Given the description of an element on the screen output the (x, y) to click on. 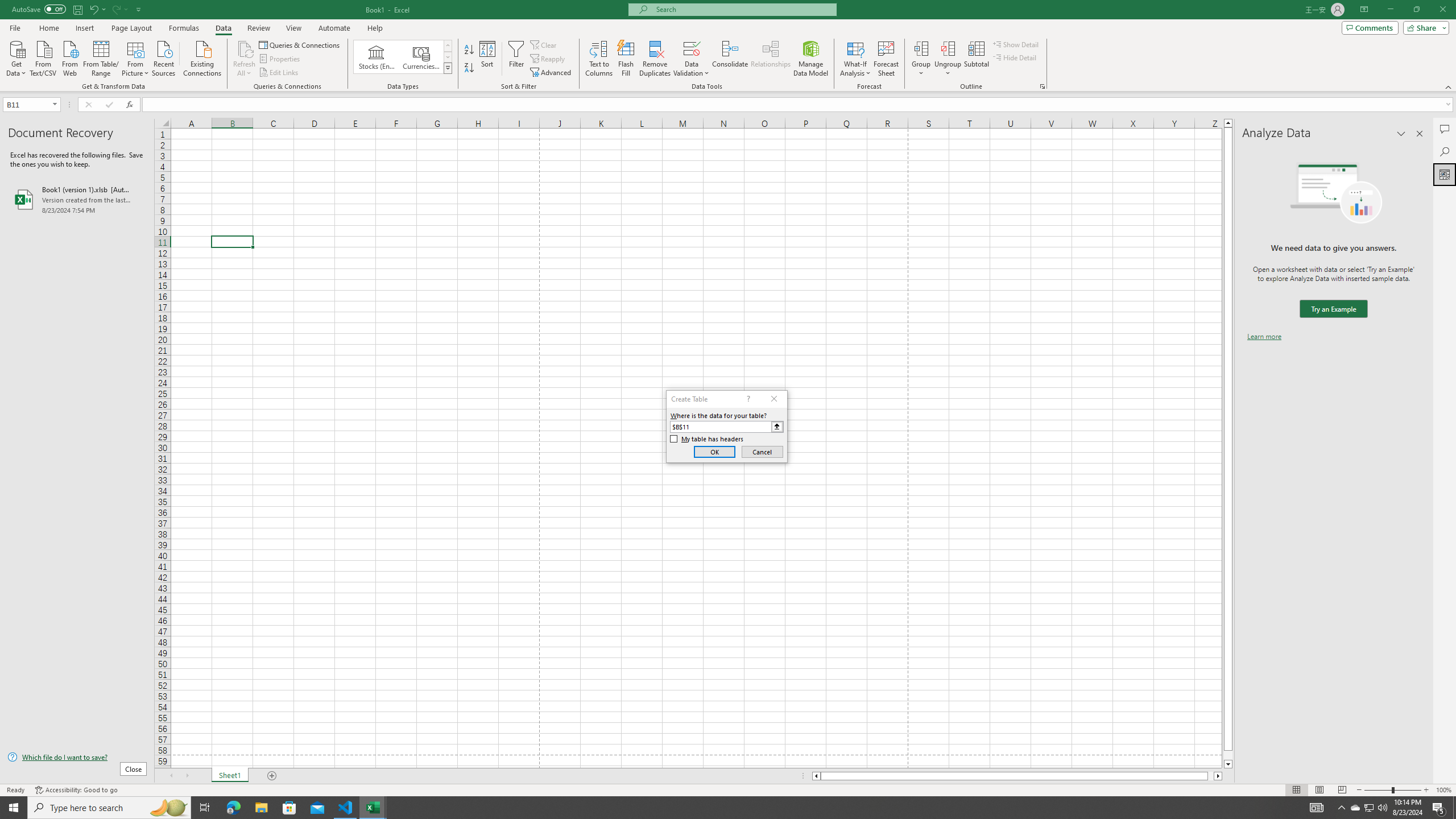
Show Detail (1016, 44)
Learn more (1264, 336)
Group and Outline Settings (1042, 85)
Filter (515, 58)
Clear (544, 44)
Consolidate... (729, 58)
